Given the description of an element on the screen output the (x, y) to click on. 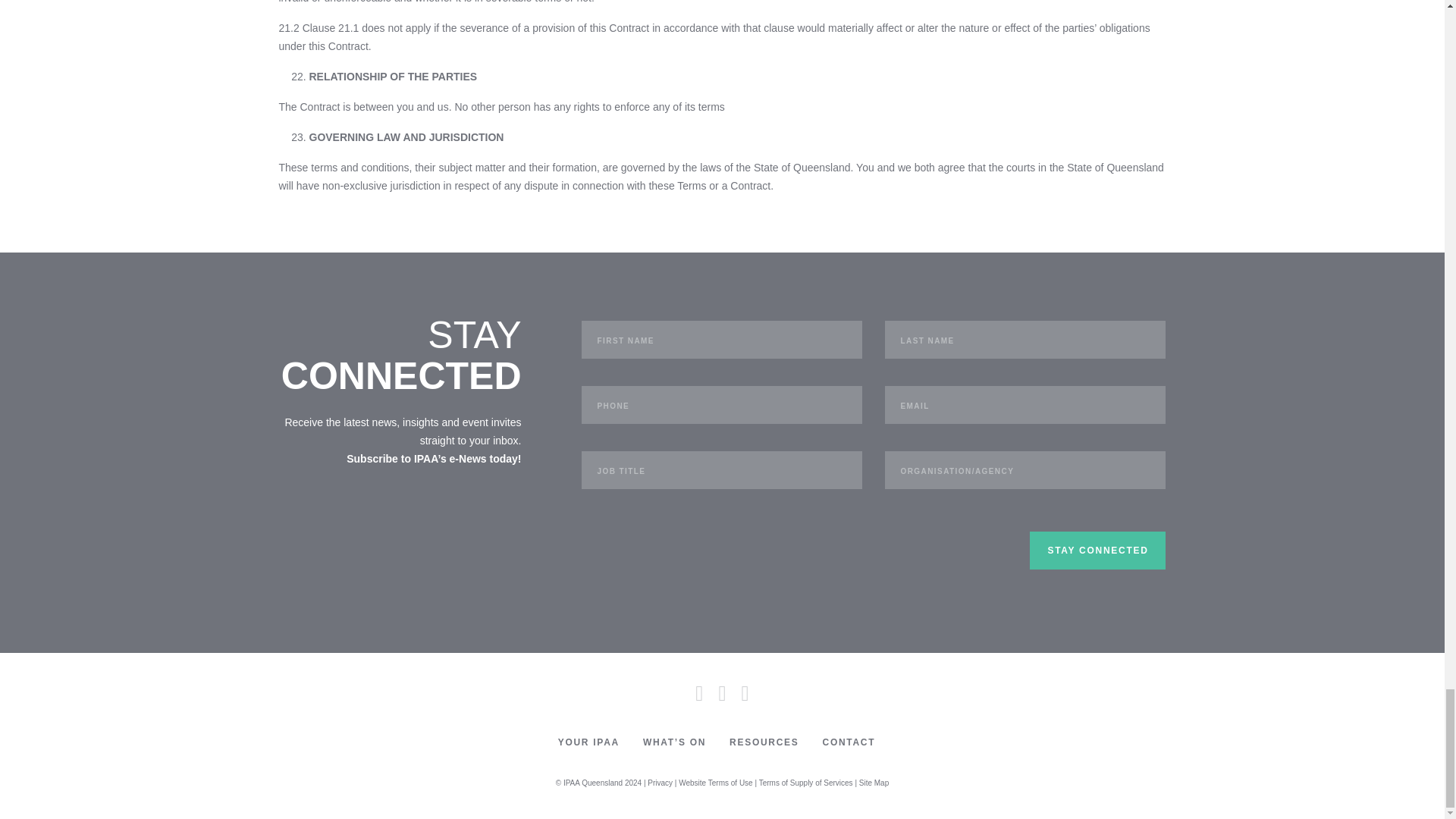
CONTACT (847, 742)
Stay Connected (1097, 550)
RESOURCES (764, 742)
Website Terms of Use (715, 782)
Privacy (659, 782)
Terms of Supply of Services (805, 782)
Resources (764, 742)
YOUR IPAA (588, 742)
Site Map (873, 782)
Your IPAA (588, 742)
